Given the description of an element on the screen output the (x, y) to click on. 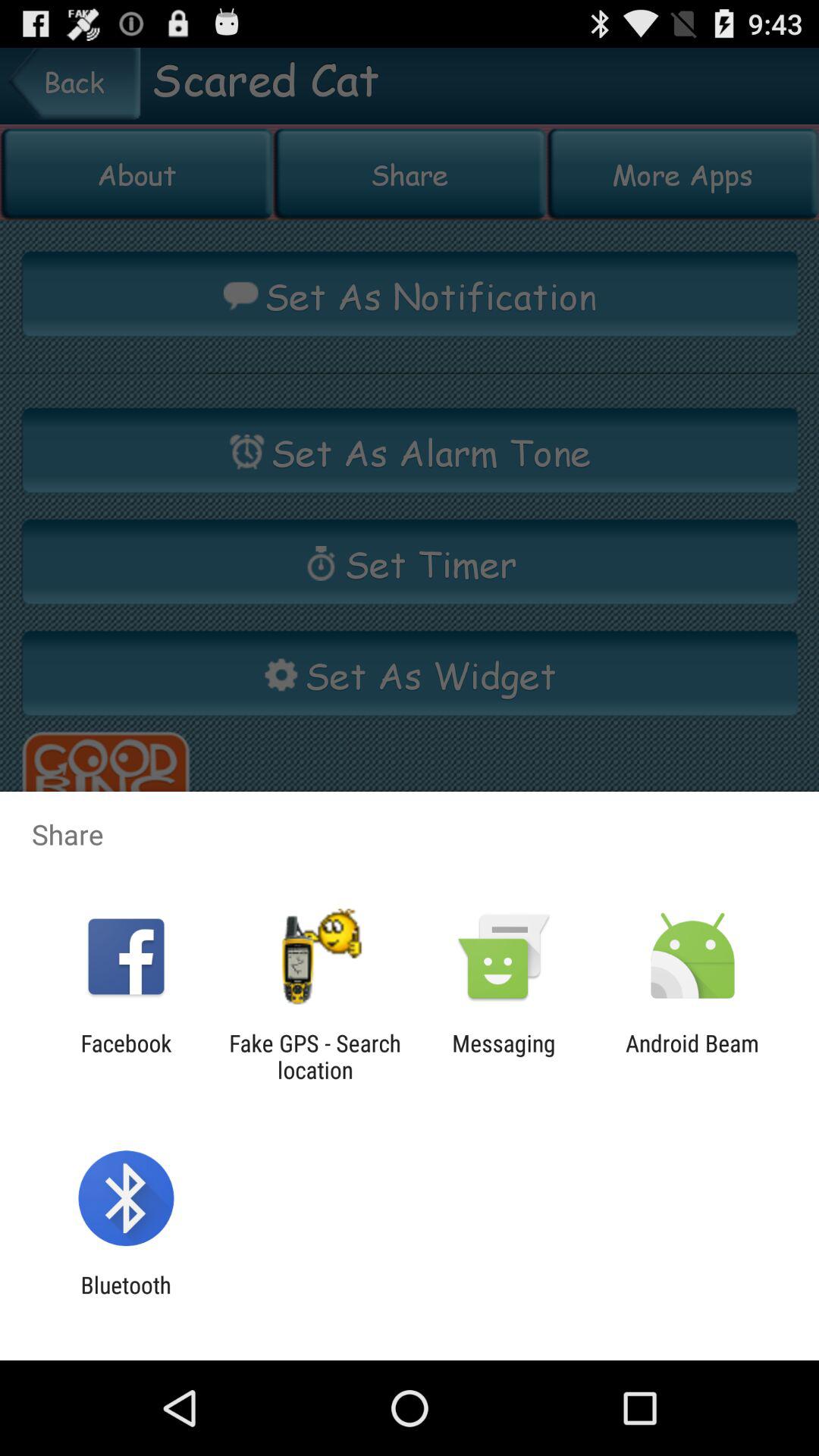
open the item to the right of the fake gps search icon (503, 1056)
